Given the description of an element on the screen output the (x, y) to click on. 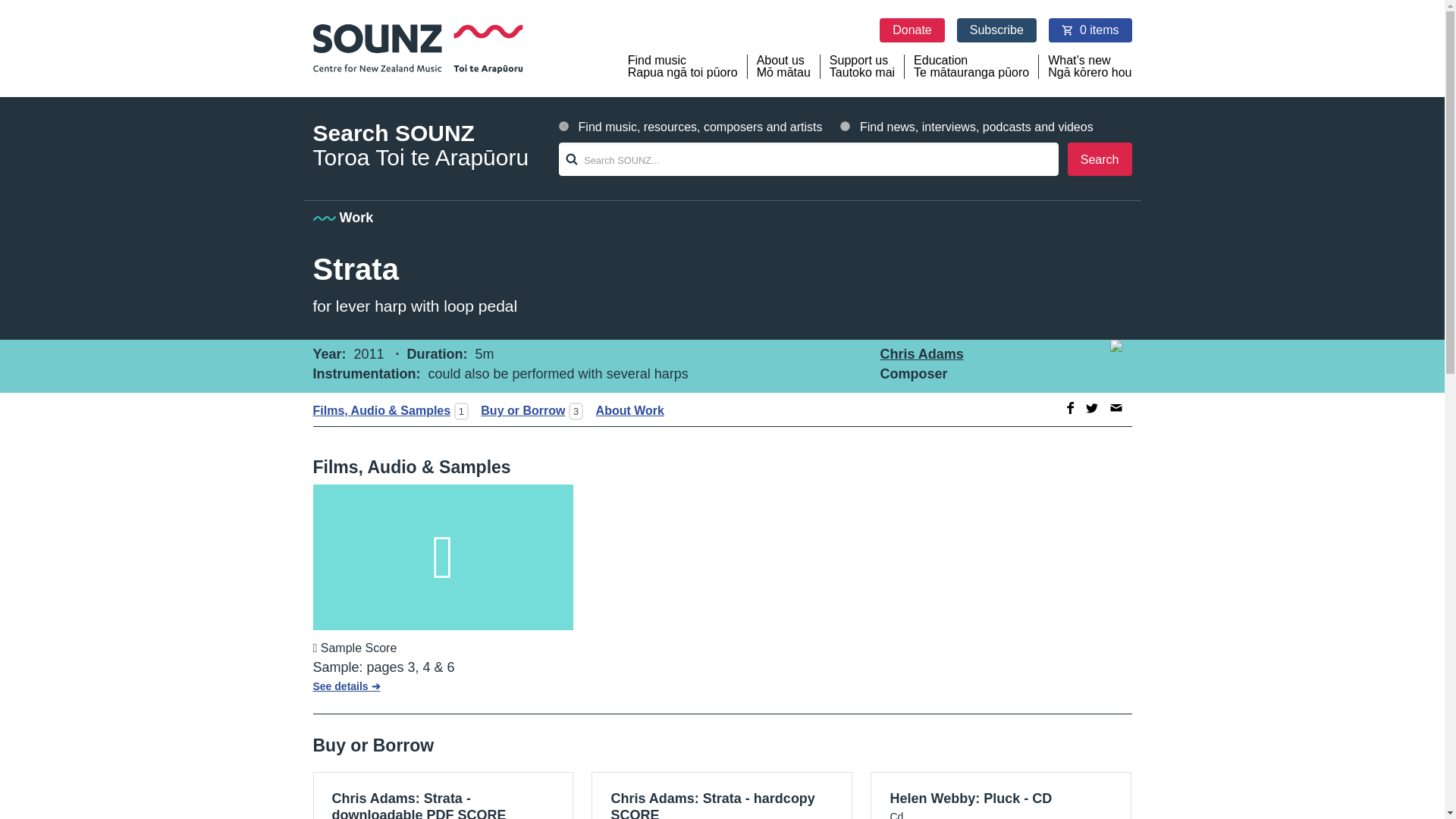
Share to Email (862, 66)
Donate (721, 795)
0 items (1115, 408)
Buy or Borrow (911, 30)
Share to Facebook (1090, 30)
Search (517, 410)
Share to Twitter (1067, 408)
Subscribe (1099, 159)
catalogue (1091, 408)
About Work (1000, 795)
Chris Adams (443, 795)
